Given the description of an element on the screen output the (x, y) to click on. 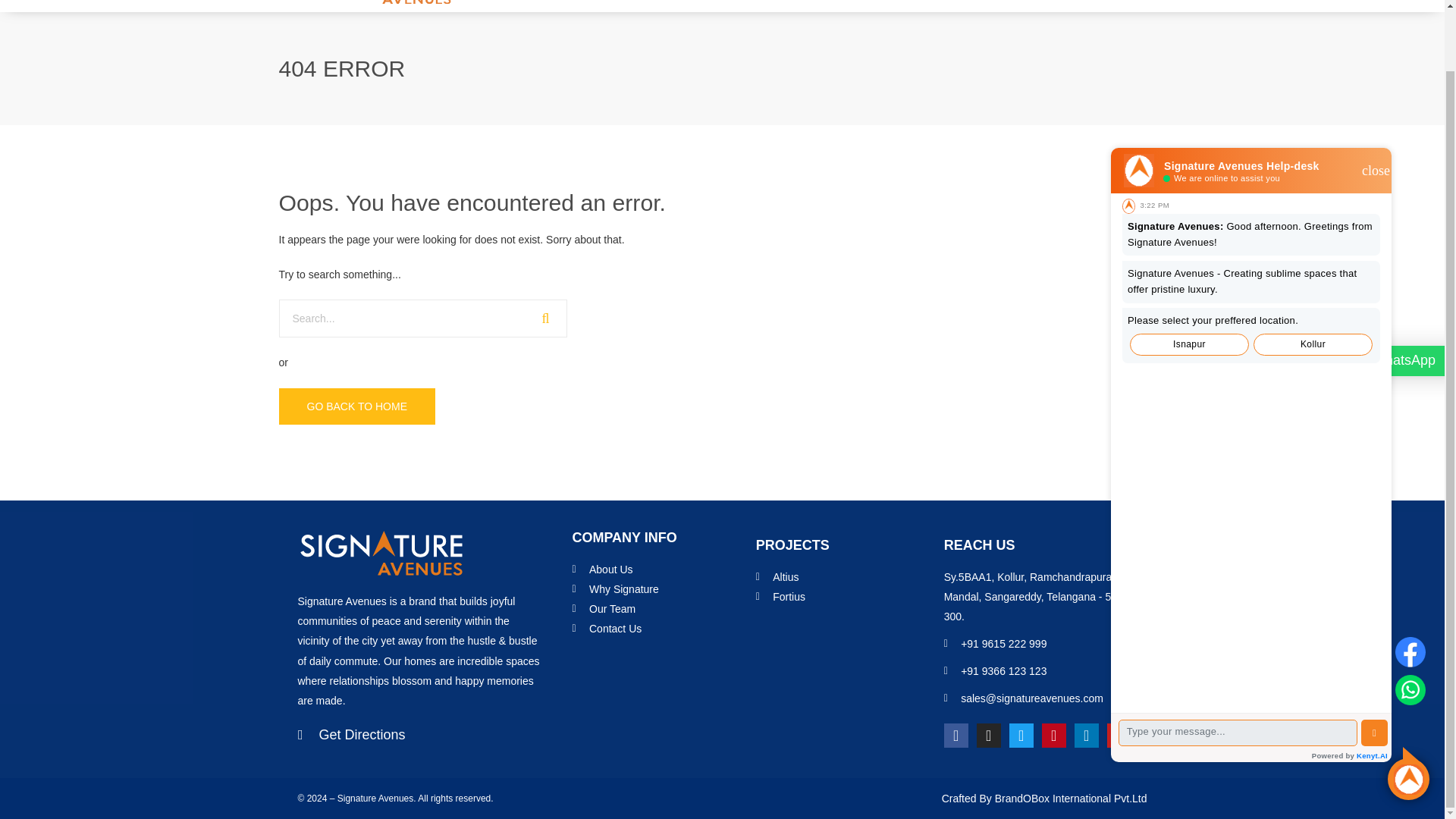
GO BACK TO HOME (357, 406)
Careers (997, 2)
Contact Us (1118, 2)
Refer us (1054, 2)
About Us (660, 569)
Current Projects (831, 2)
Why Signature (660, 588)
Home (681, 2)
Get Directions (419, 734)
Project Status (927, 2)
About Us (741, 2)
